Given the description of an element on the screen output the (x, y) to click on. 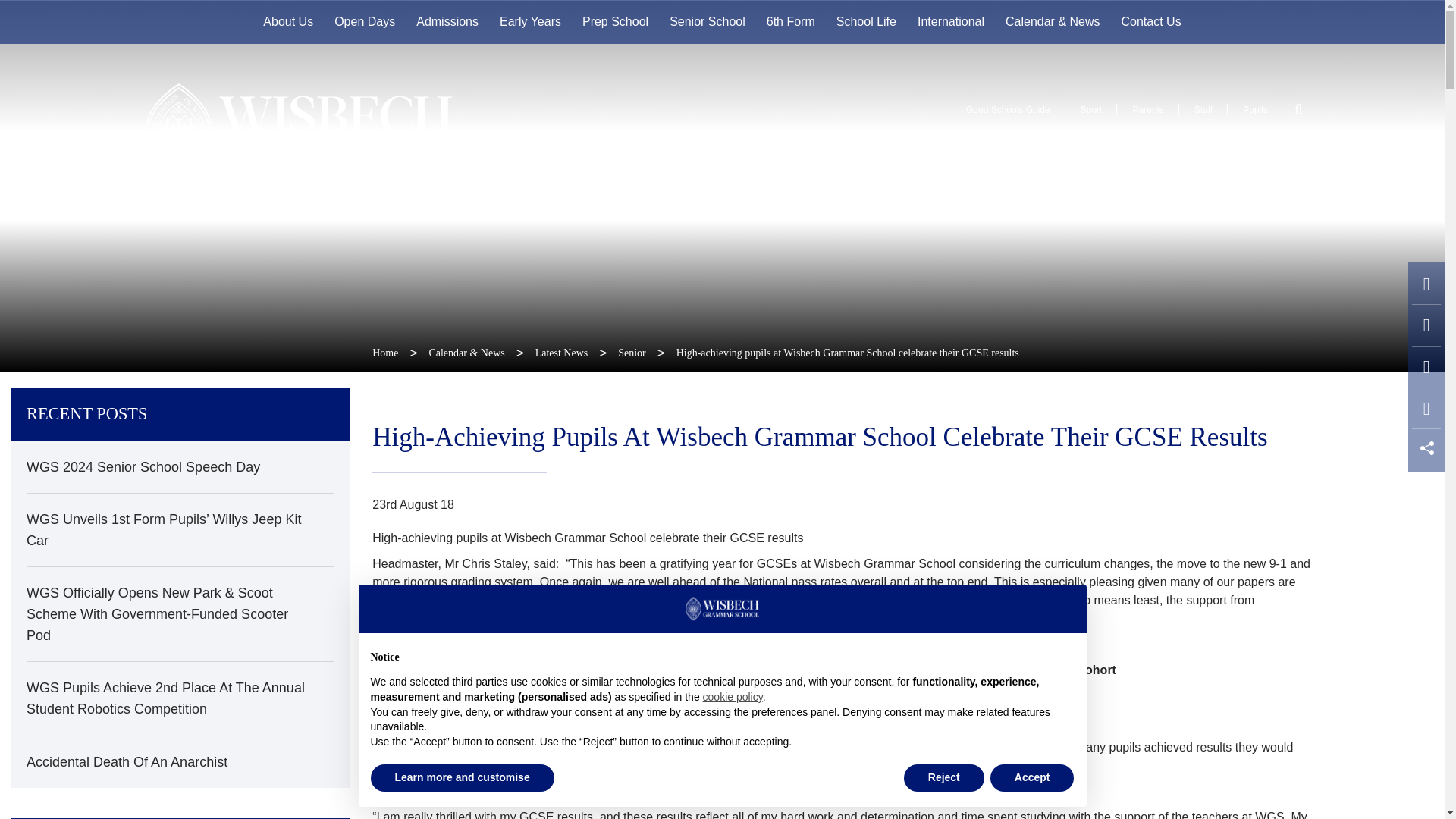
About Us (287, 22)
Senior School (707, 22)
Admissions (447, 22)
6th Form (790, 22)
Open Days (364, 22)
Prep School (615, 22)
Early Years (530, 22)
